Given the description of an element on the screen output the (x, y) to click on. 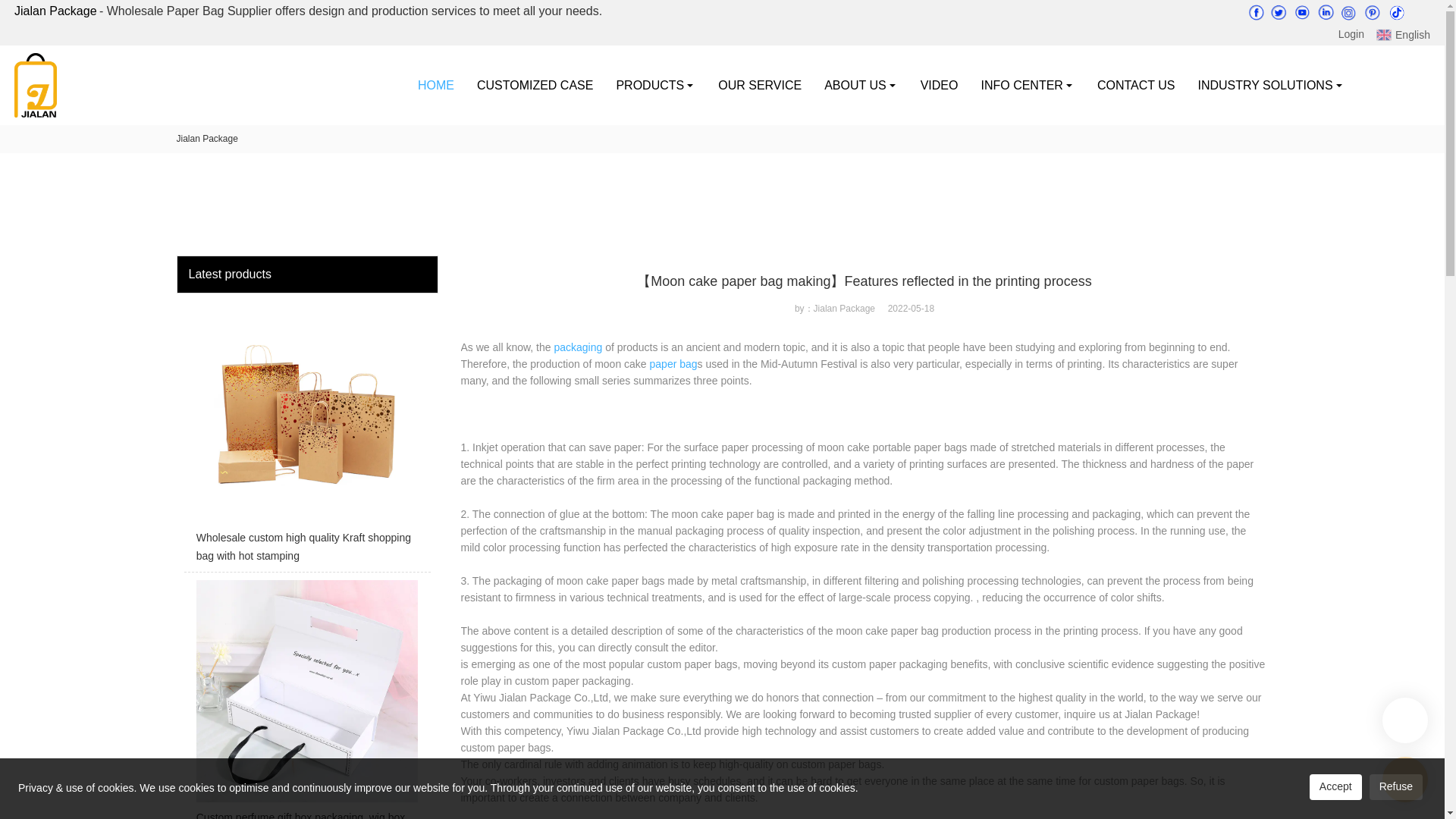
OUR SERVICE (759, 85)
CUSTOMIZED CASE (535, 85)
Login (1350, 33)
PRODUCTS (655, 85)
